Given the description of an element on the screen output the (x, y) to click on. 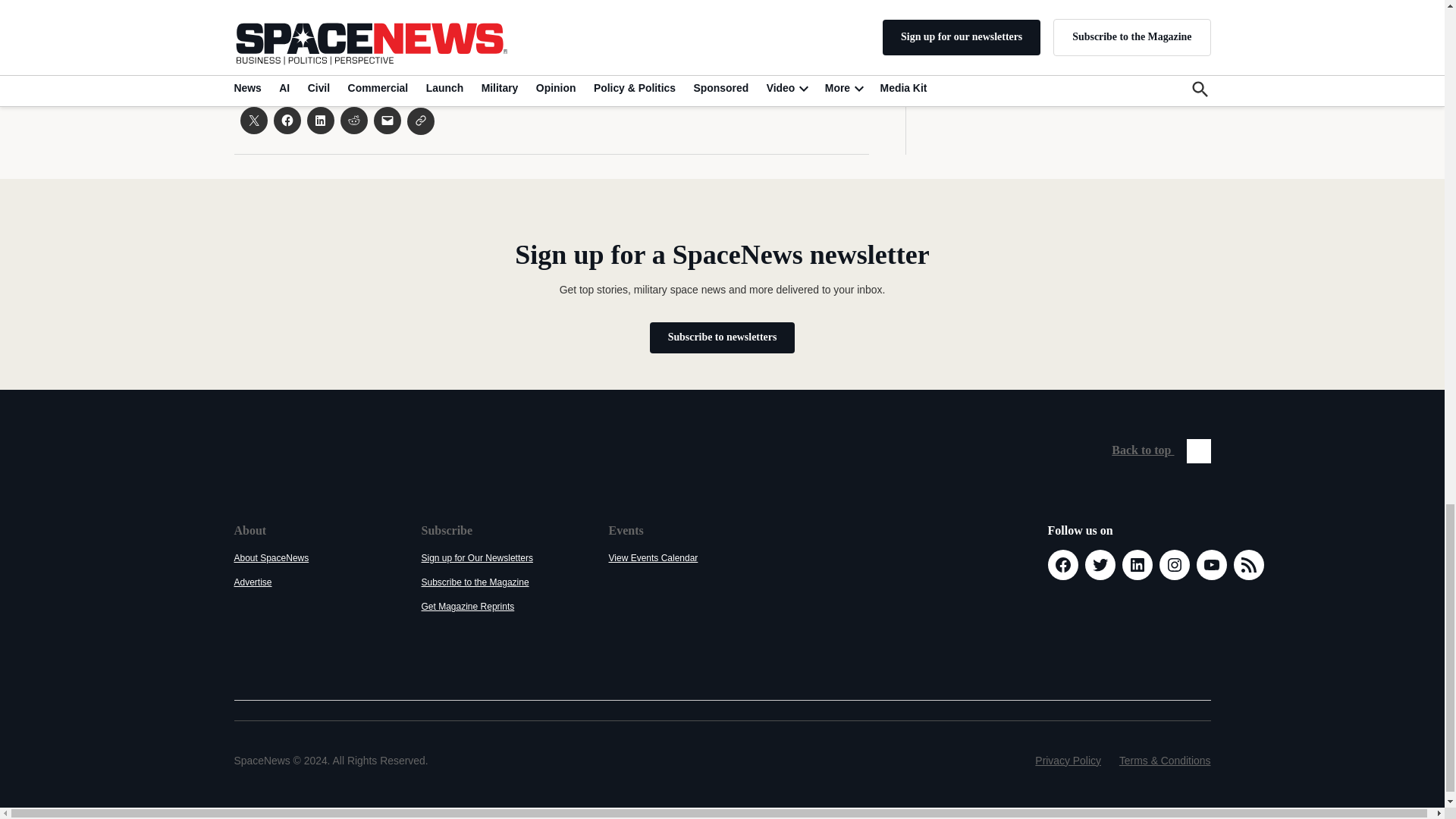
Click to share on Clipboard (419, 121)
Click to share on Reddit (352, 120)
Click to email a link to a friend (386, 120)
Click to share on X (253, 120)
Click to share on Facebook (286, 120)
Click to share on LinkedIn (319, 120)
